Given the description of an element on the screen output the (x, y) to click on. 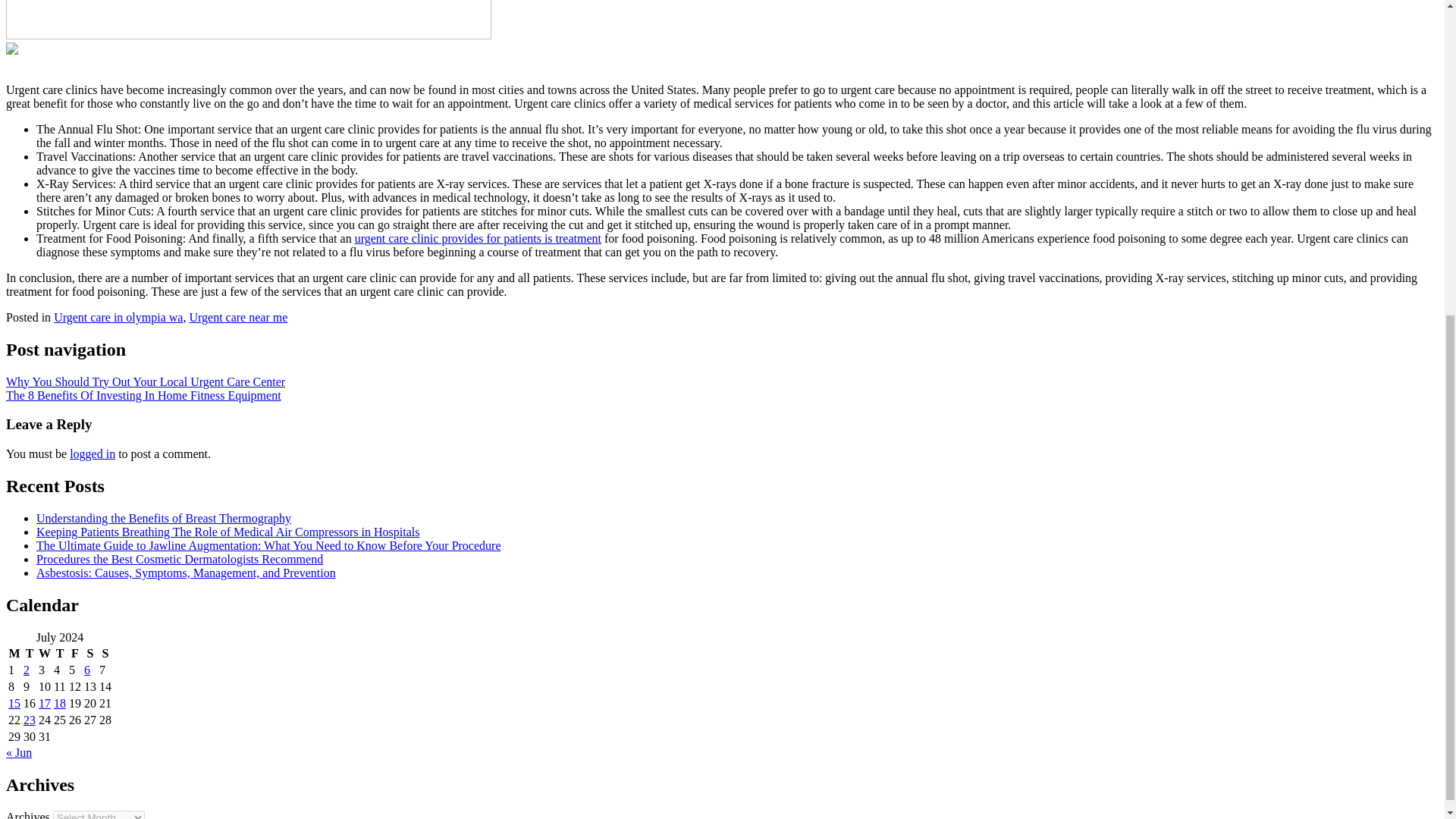
logged in (92, 453)
6 (87, 669)
Asbestosis: Causes, Symptoms, Management, and Prevention (186, 572)
Understanding the Benefits of Breast Thermography (163, 517)
Urgent care in olympia wa (118, 317)
Why You Should Try Out Your Local Urgent Care Center (145, 381)
17 (44, 703)
2 (26, 669)
Urgent care near me (237, 317)
18 (59, 703)
Thursday (59, 653)
23 (28, 719)
Monday (14, 653)
Saturday (89, 653)
The 8 Benefits Of Investing In Home Fitness Equipment (143, 395)
